Given the description of an element on the screen output the (x, y) to click on. 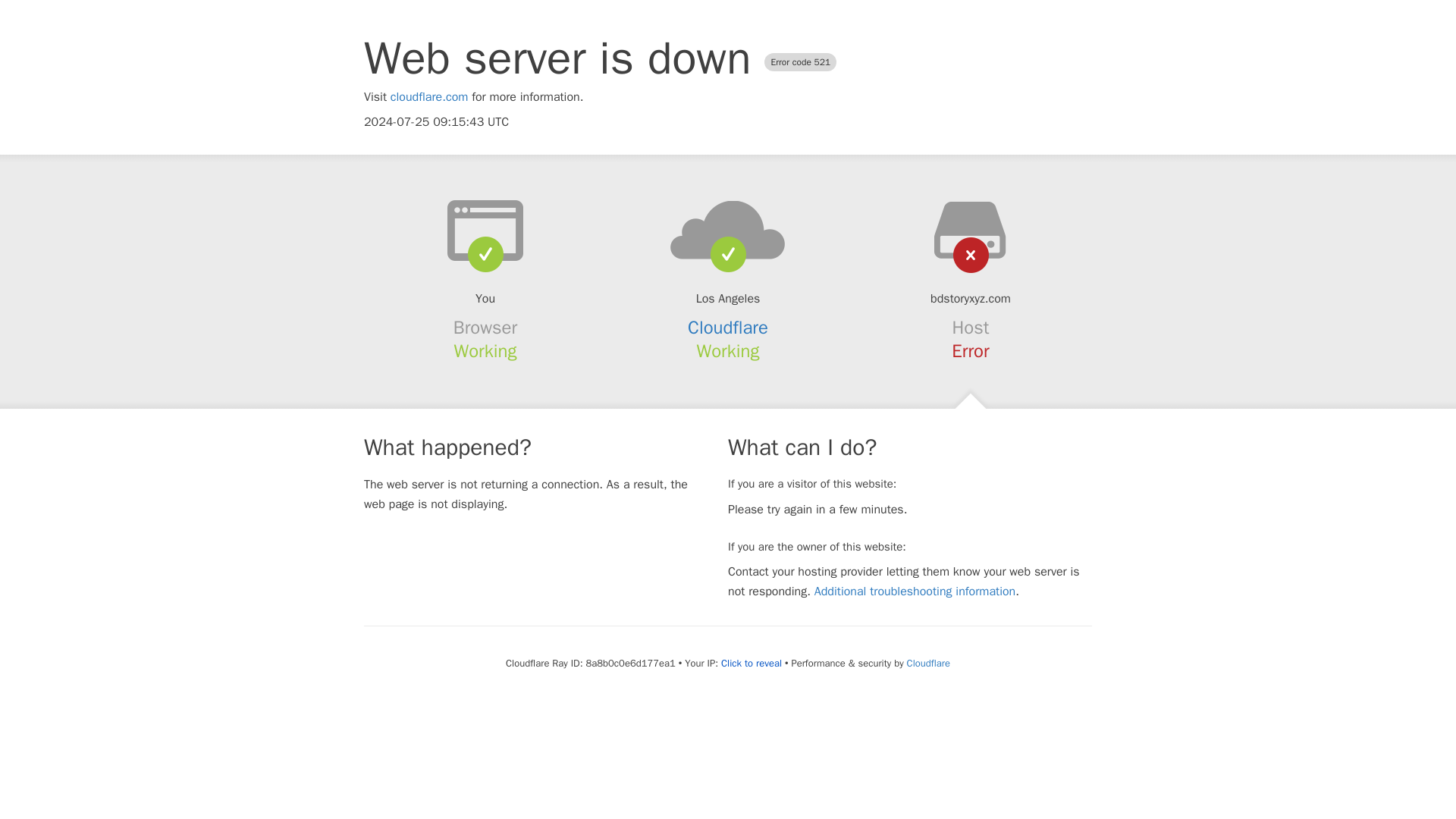
Click to reveal (750, 663)
Additional troubleshooting information (913, 590)
Cloudflare (928, 662)
cloudflare.com (429, 96)
Cloudflare (727, 327)
